Given the description of an element on the screen output the (x, y) to click on. 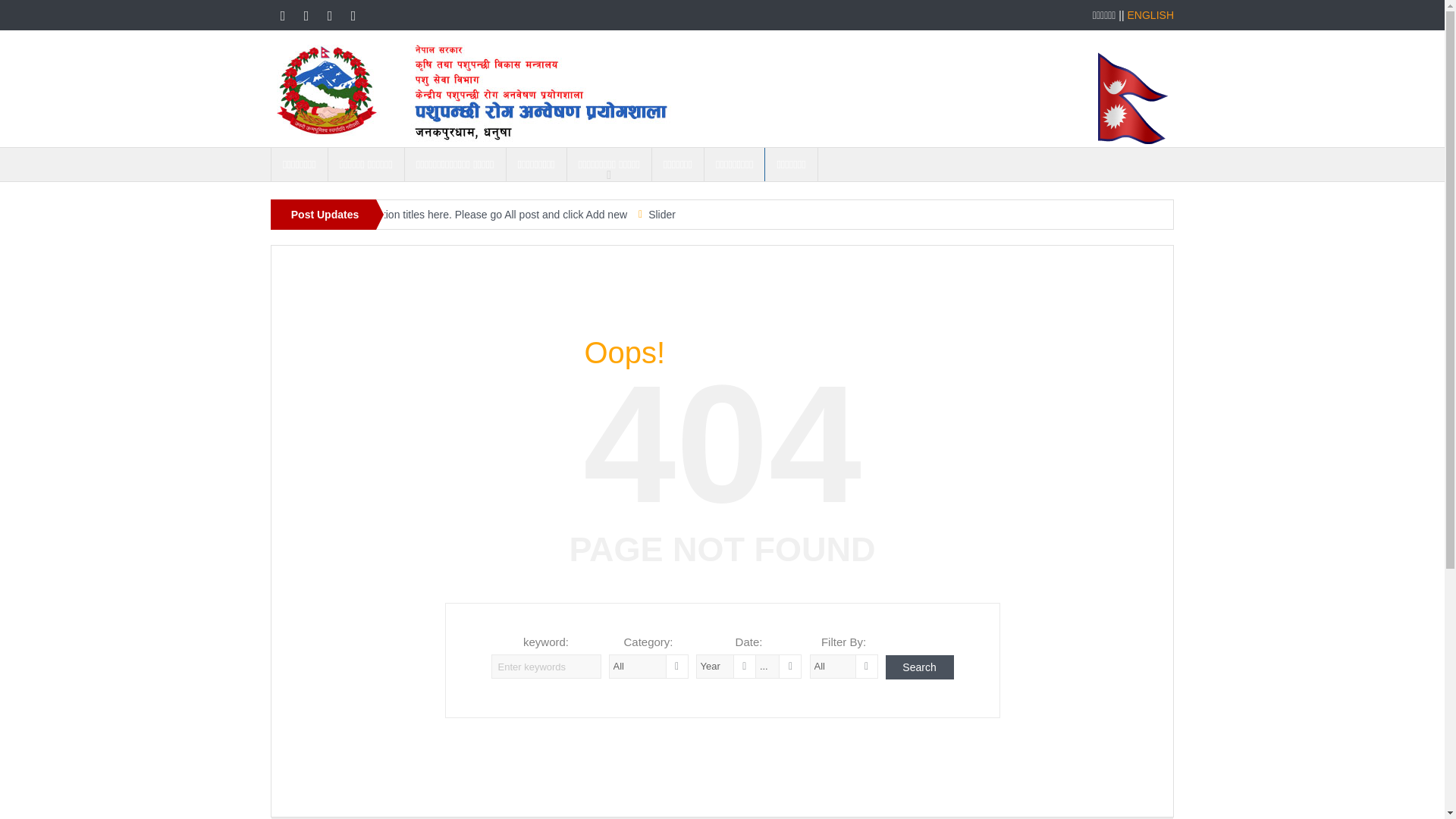
Search (919, 667)
Slider (661, 214)
ENGLISH (1149, 15)
